Given the description of an element on the screen output the (x, y) to click on. 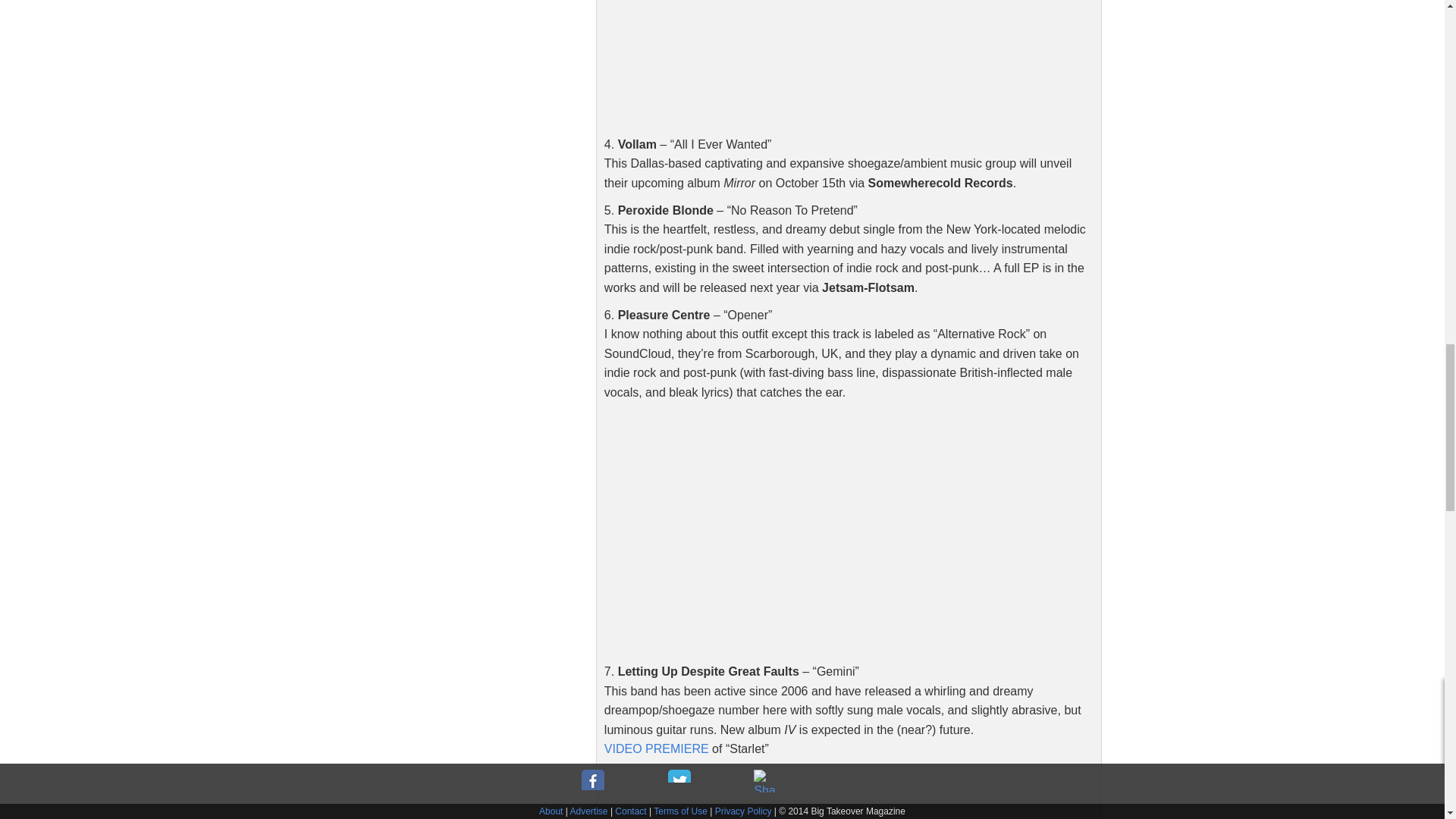
VIDEO PREMIERE (656, 748)
YouTube video player (816, 528)
YouTube video player (816, 792)
YouTube video player (816, 60)
